Given the description of an element on the screen output the (x, y) to click on. 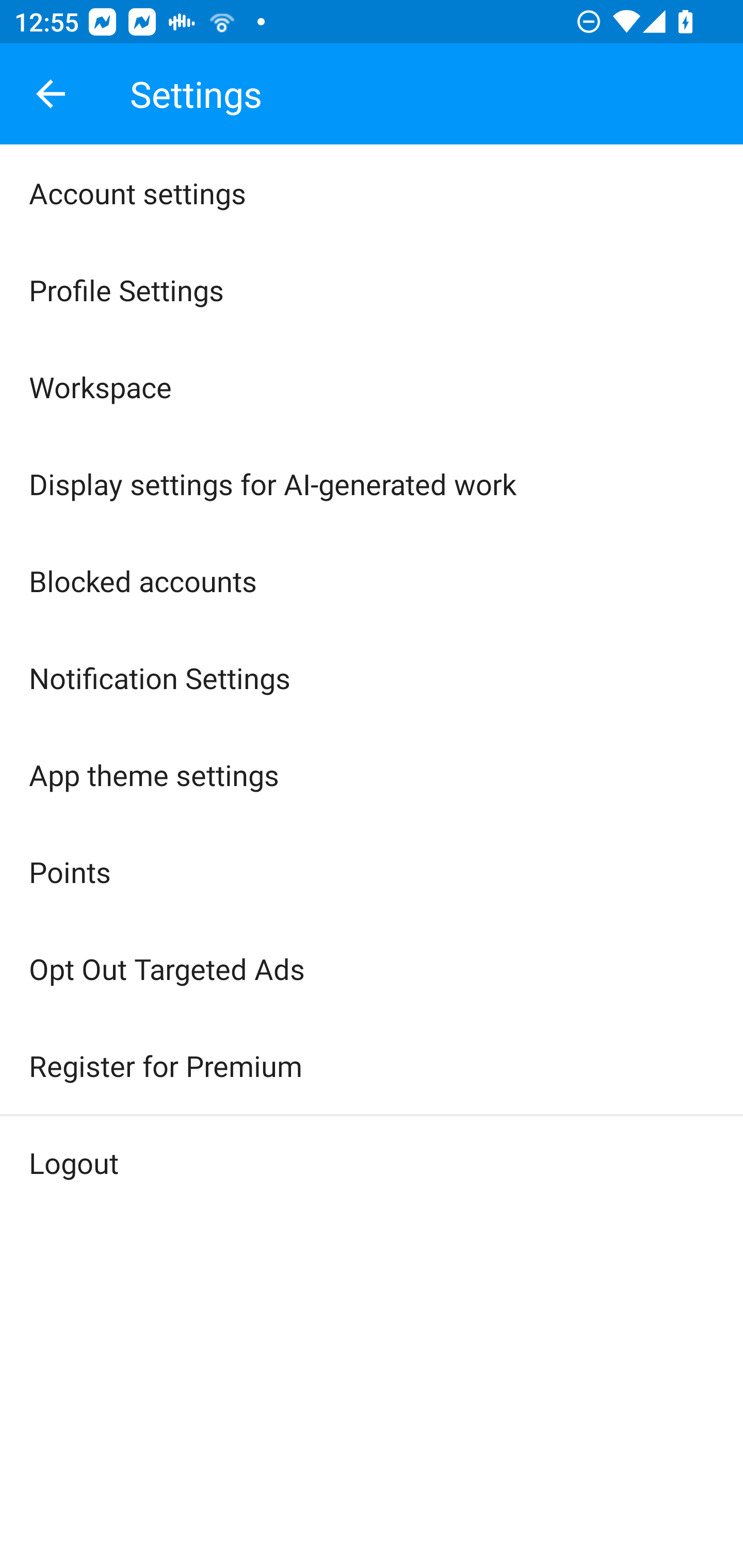
Navigate up (50, 93)
Account settings (371, 192)
Profile Settings (371, 289)
Workspace (371, 386)
Display settings for AI-generated work (371, 483)
Blocked accounts (371, 579)
Notification Settings (371, 676)
App theme settings (371, 774)
Points (371, 871)
Opt Out Targeted Ads (371, 968)
Register for Premium (371, 1065)
Logout (371, 1162)
